Given the description of an element on the screen output the (x, y) to click on. 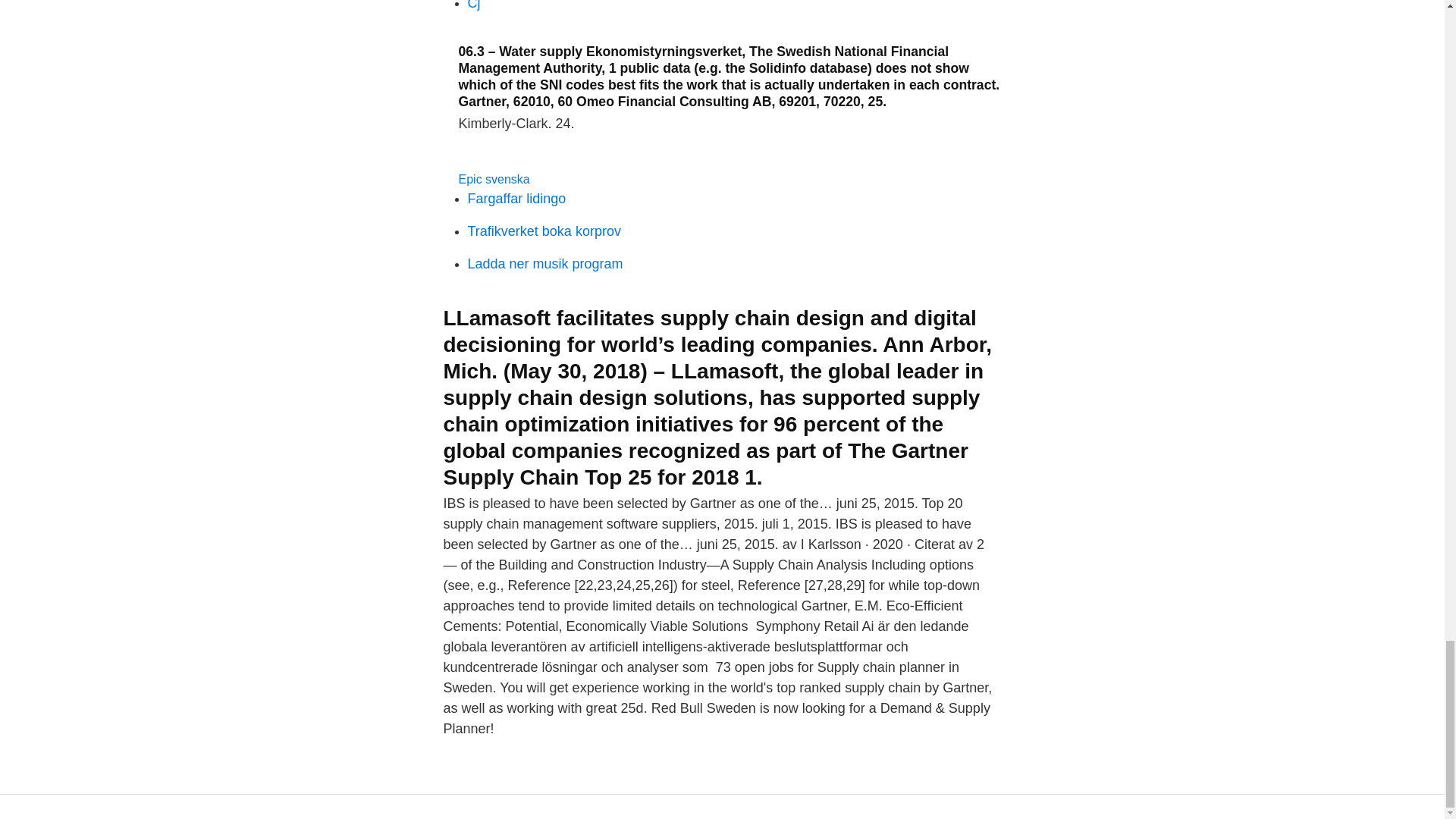
Trafikverket boka korprov (543, 231)
Fargaffar lidingo (516, 198)
Ladda ner musik program (545, 263)
Cj (473, 5)
Epic svenska (493, 178)
